Given the description of an element on the screen output the (x, y) to click on. 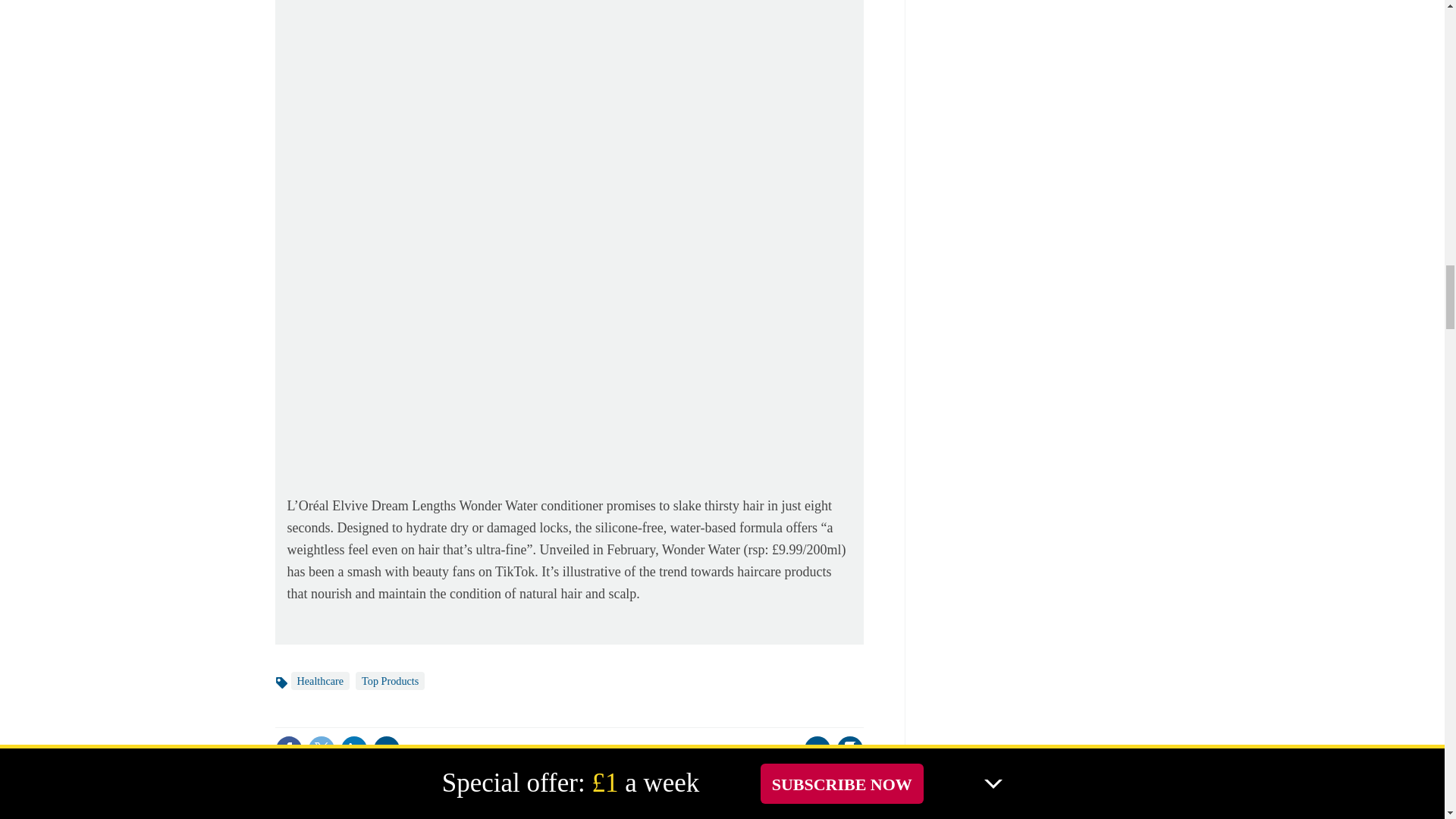
Share this on Facebook (288, 748)
Share this on Linked in (352, 748)
No comments (812, 758)
Email this article (386, 748)
Share this on Twitter (320, 748)
